Given the description of an element on the screen output the (x, y) to click on. 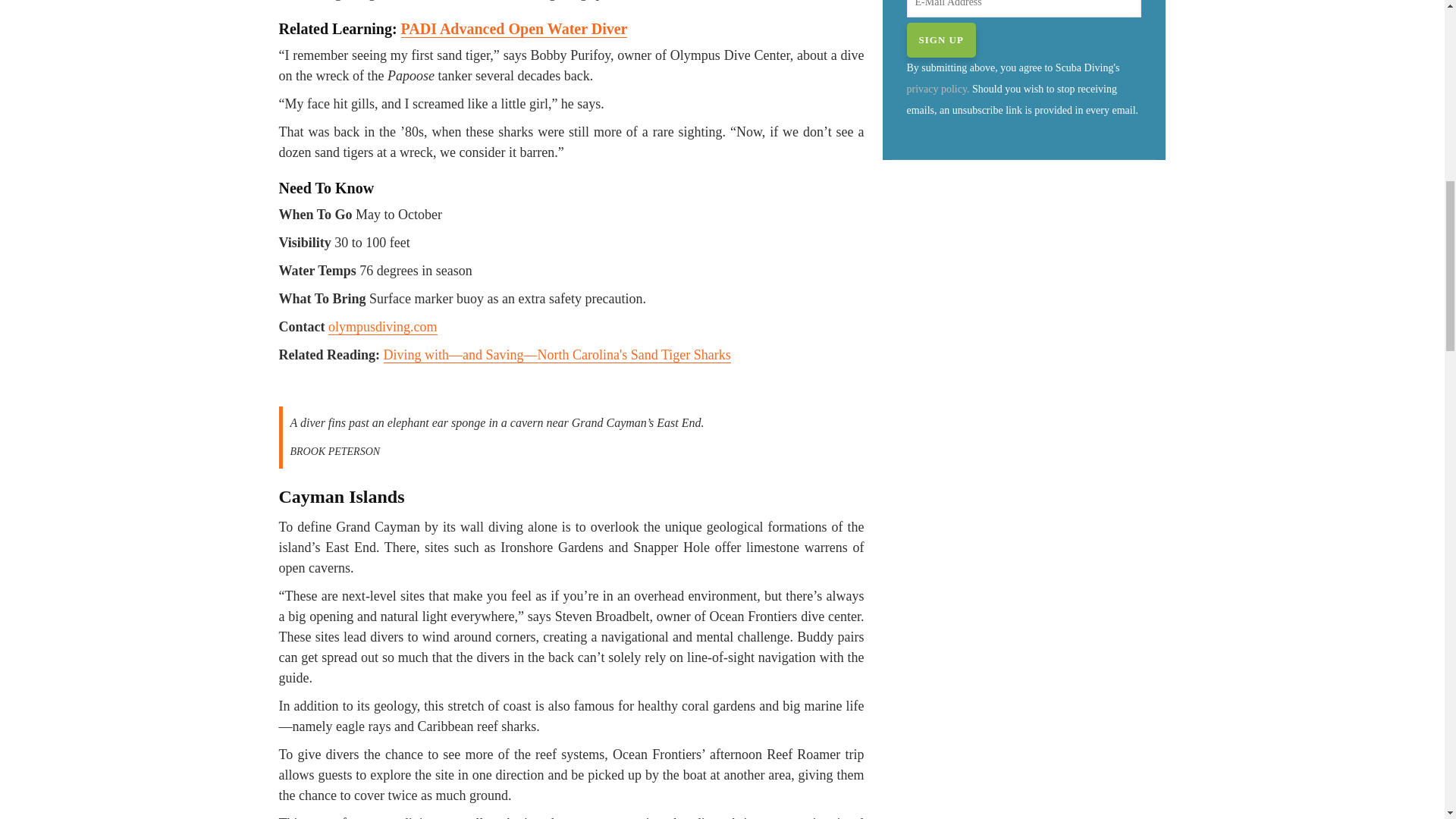
Sign Up (941, 39)
olympusdiving.com (383, 326)
PADI Advanced Open Water Diver (514, 28)
